Given the description of an element on the screen output the (x, y) to click on. 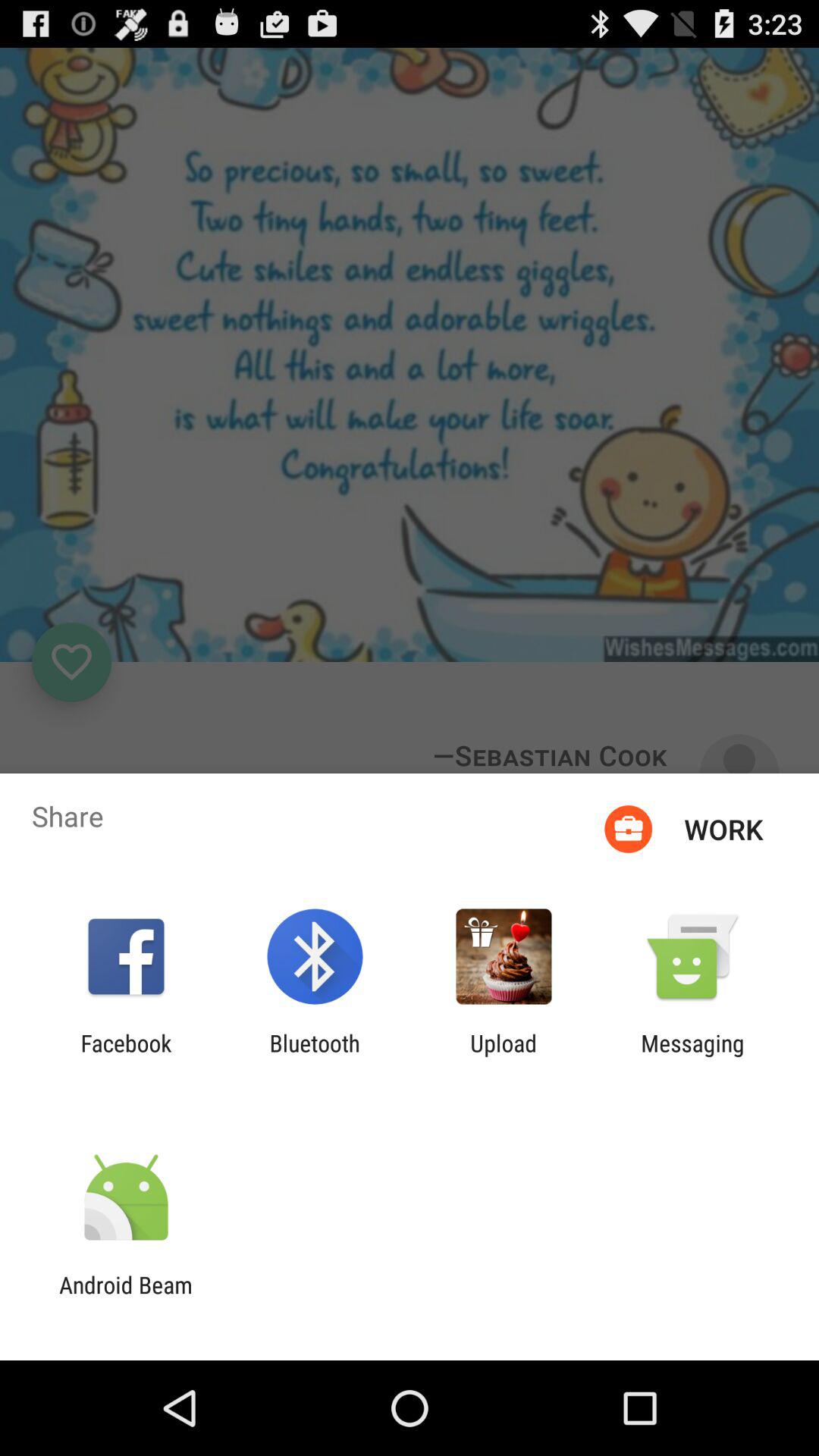
jump to the android beam app (125, 1298)
